Given the description of an element on the screen output the (x, y) to click on. 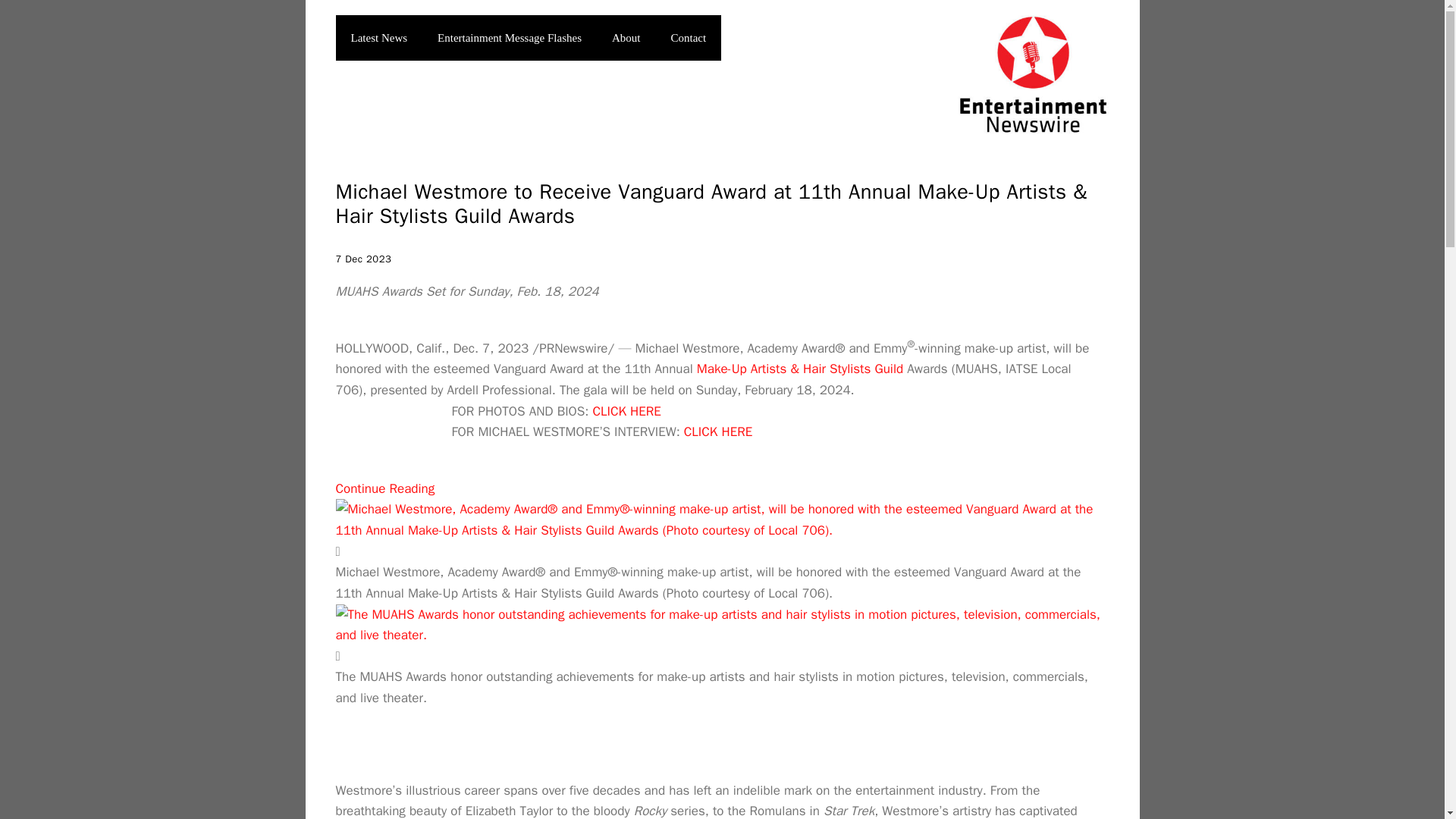
Entertainment Message Flashes (509, 37)
CLICK HERE (718, 431)
Contact (689, 37)
Continue Reading (383, 488)
Continue Reading (383, 488)
CLICK HERE (626, 411)
Latest News (378, 37)
About (626, 37)
